Given the description of an element on the screen output the (x, y) to click on. 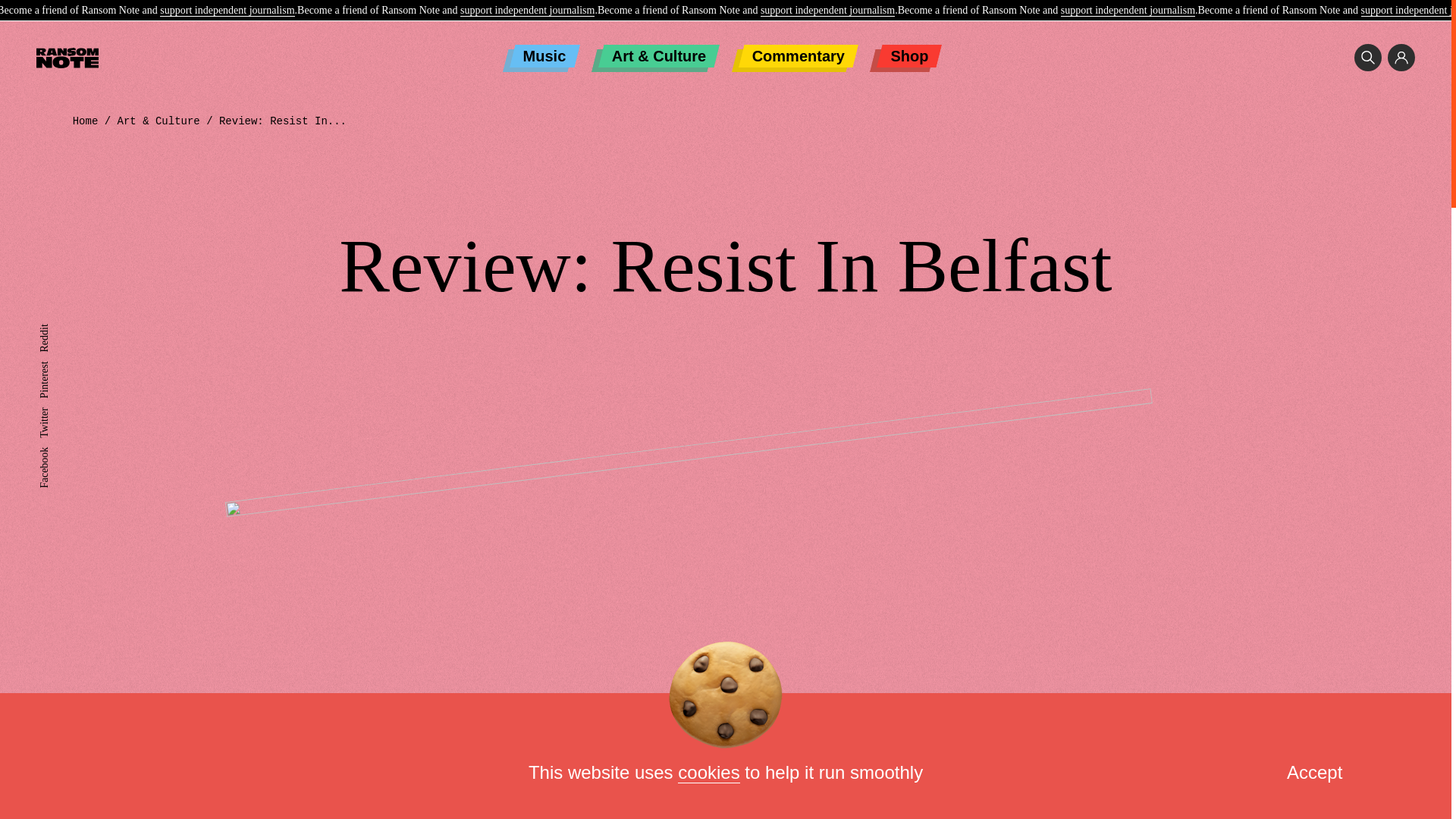
Facebook (59, 452)
support independent journalism (527, 10)
Commentary (798, 56)
support independent journalism (227, 10)
support independent journalism (1128, 10)
Reddit (52, 329)
Shop (909, 56)
Twitter (53, 413)
Home (85, 121)
Music (544, 56)
Pinterest (57, 367)
support independent journalism (827, 10)
